Given the description of an element on the screen output the (x, y) to click on. 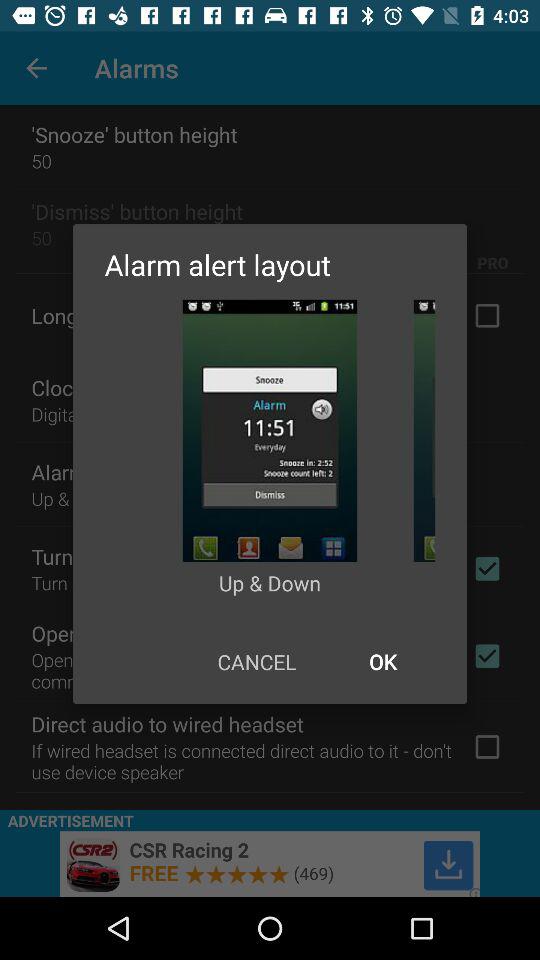
choose item below up & down item (256, 661)
